Given the description of an element on the screen output the (x, y) to click on. 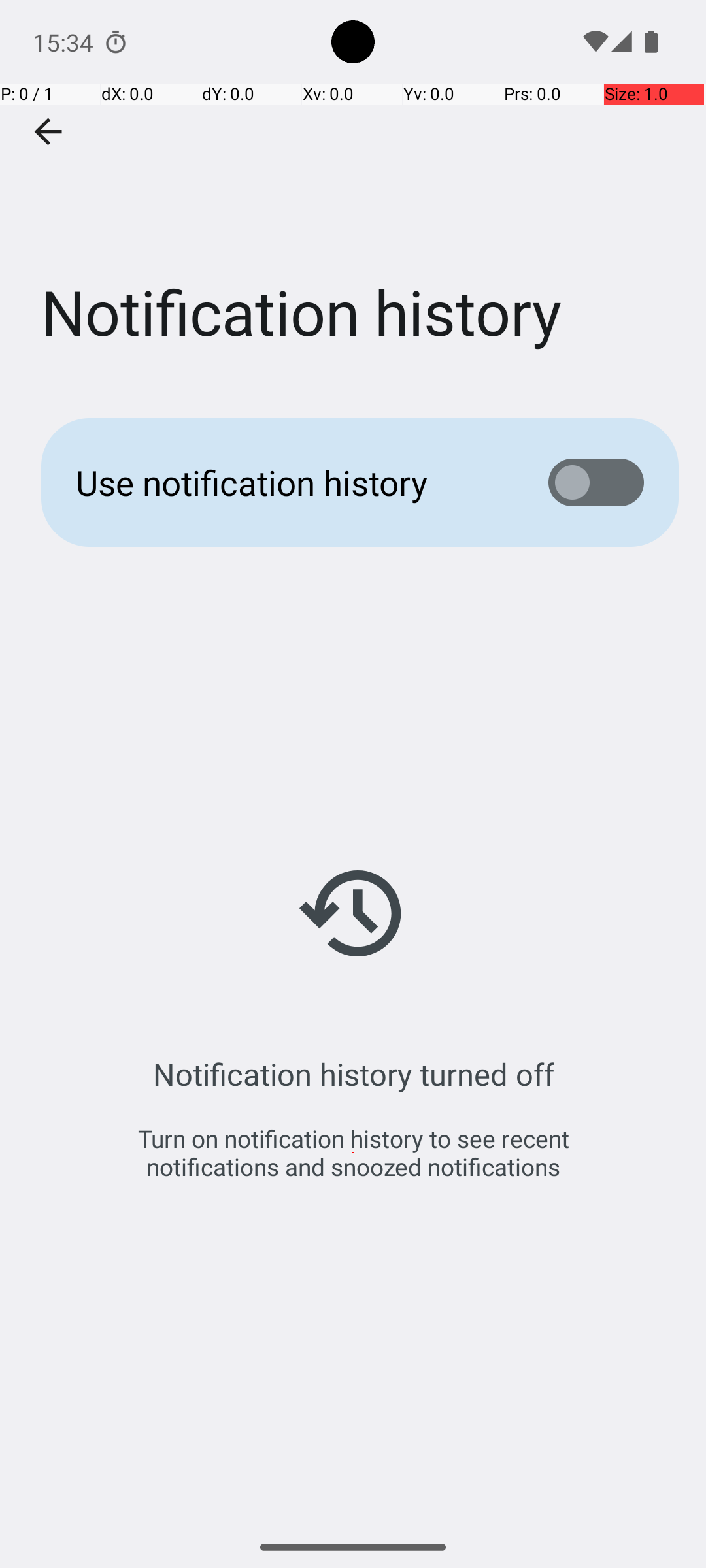
Notification history turned off Element type: android.widget.TextView (352, 1073)
Turn on notification history to see recent notifications and snoozed notifications Element type: android.widget.TextView (352, 1152)
